Given the description of an element on the screen output the (x, y) to click on. 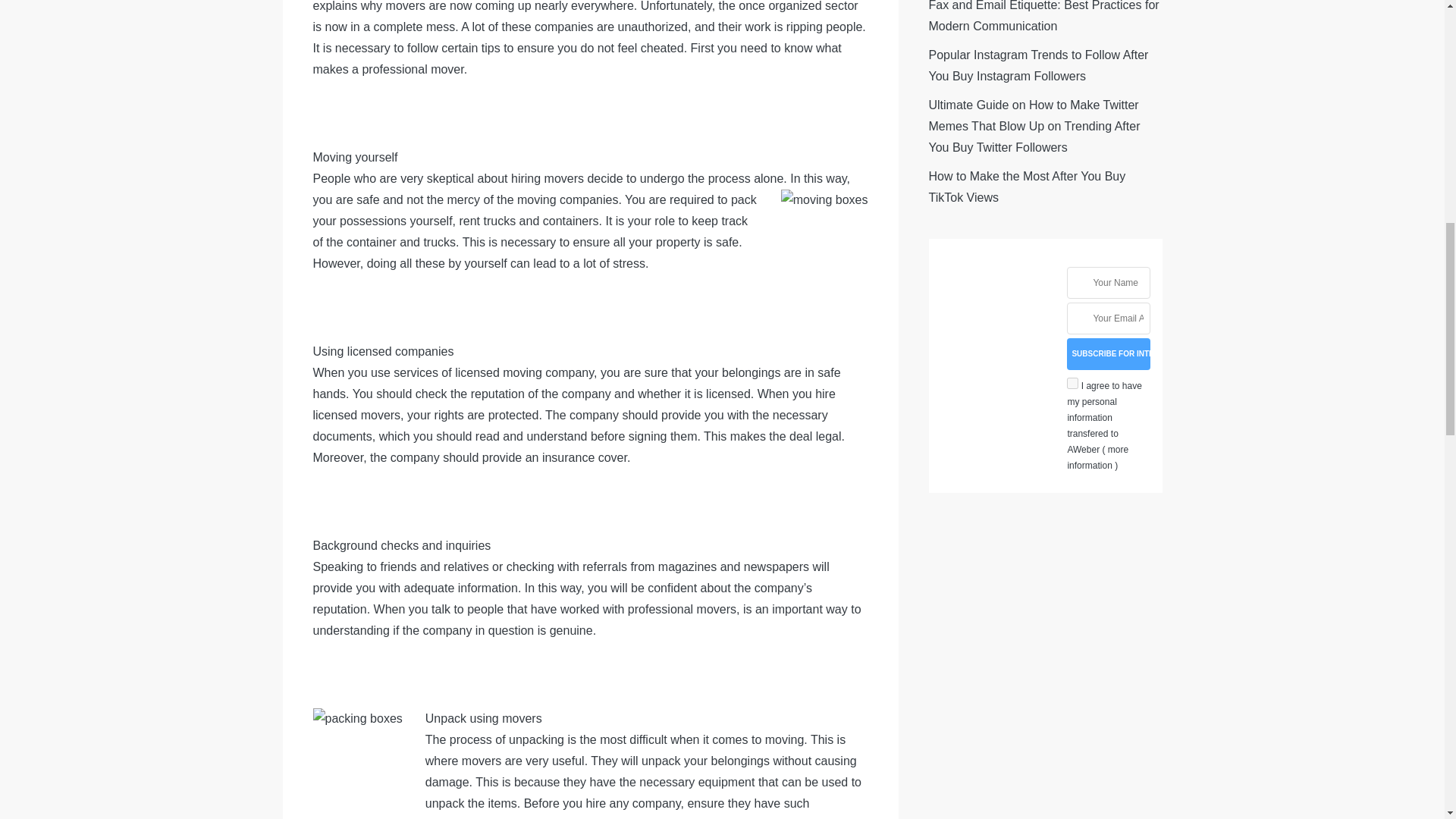
How to Make the Most After You Buy TikTok Views (1026, 186)
on (1072, 383)
Subscribe for interesting News (1108, 354)
Subscribe for interesting News (1108, 354)
